Given the description of an element on the screen output the (x, y) to click on. 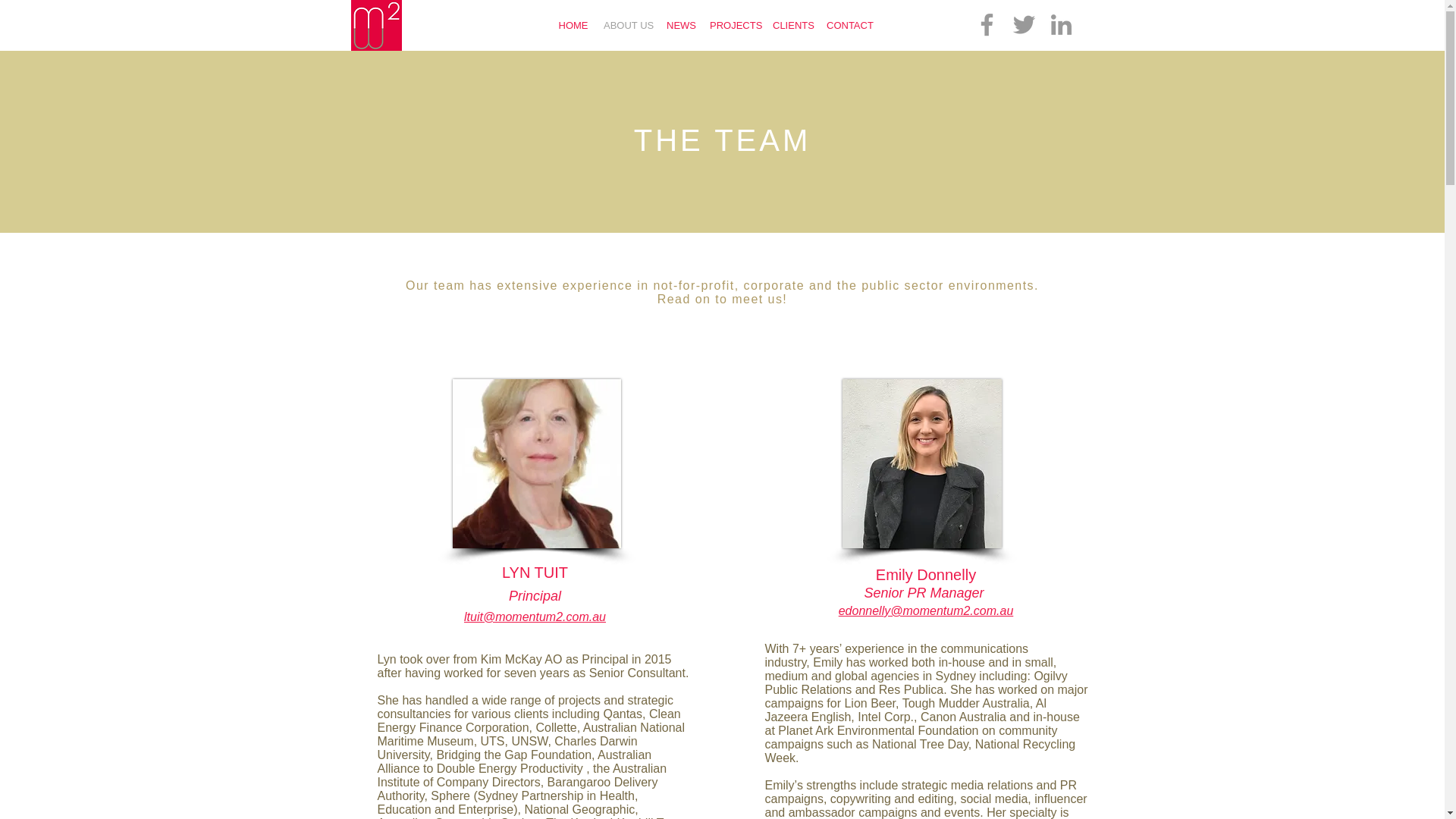
HOME (572, 25)
Lo-res-200x300.jpg (535, 463)
PROJECTS (733, 25)
NEWS (680, 25)
CONTACT (849, 25)
CLIENTS (791, 25)
ABOUT US (627, 25)
